Given the description of an element on the screen output the (x, y) to click on. 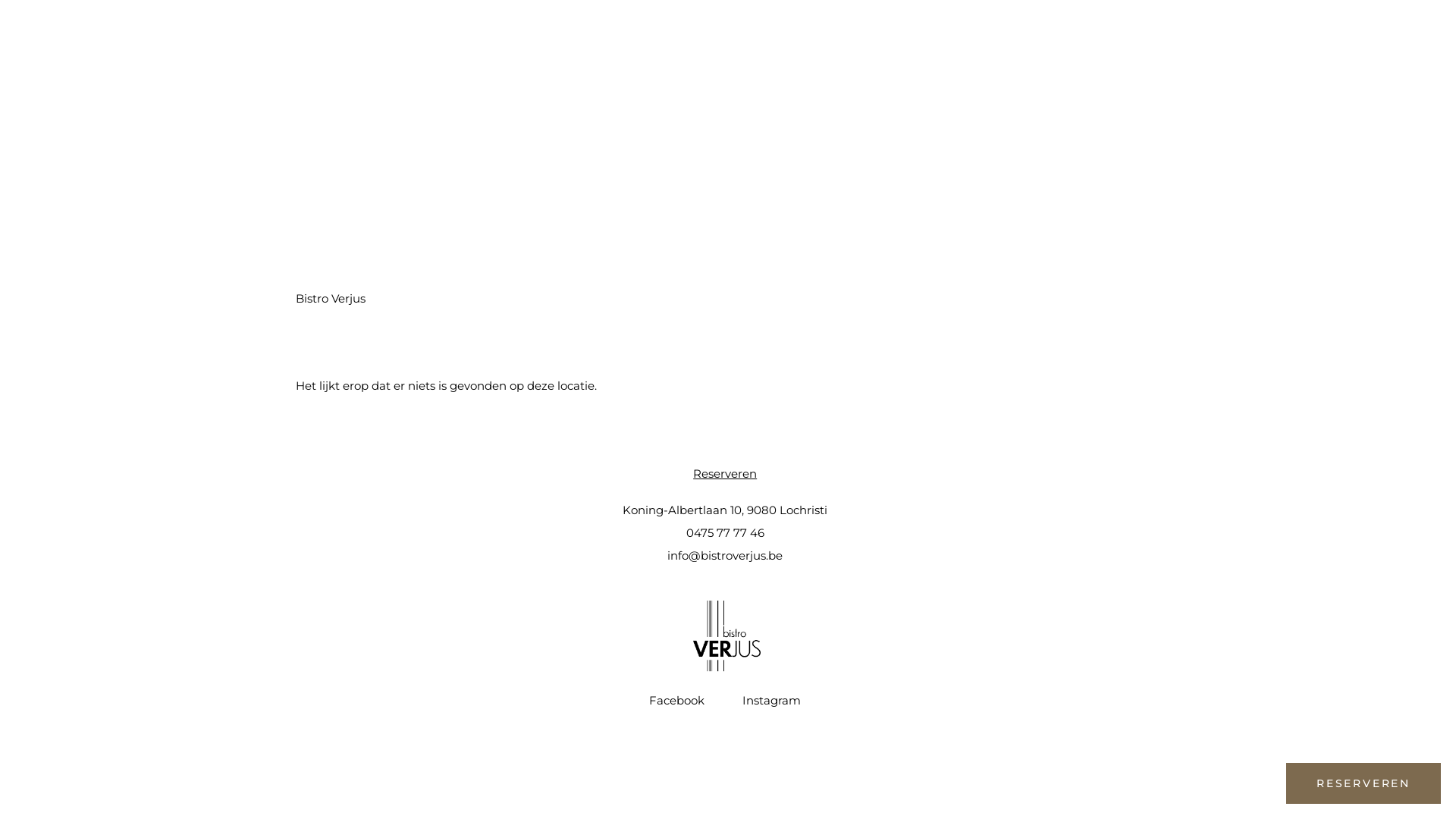
info@bistroverjus.be Element type: text (724, 555)
Koning-Albertlaan 10, 9080 Lochristi Element type: text (724, 509)
Instagram Element type: text (771, 700)
Reserveren Element type: text (724, 473)
0475 77 77 46 Element type: text (725, 532)
Facebook Element type: text (676, 700)
RESERVEREN Element type: text (1363, 782)
